Given the description of an element on the screen output the (x, y) to click on. 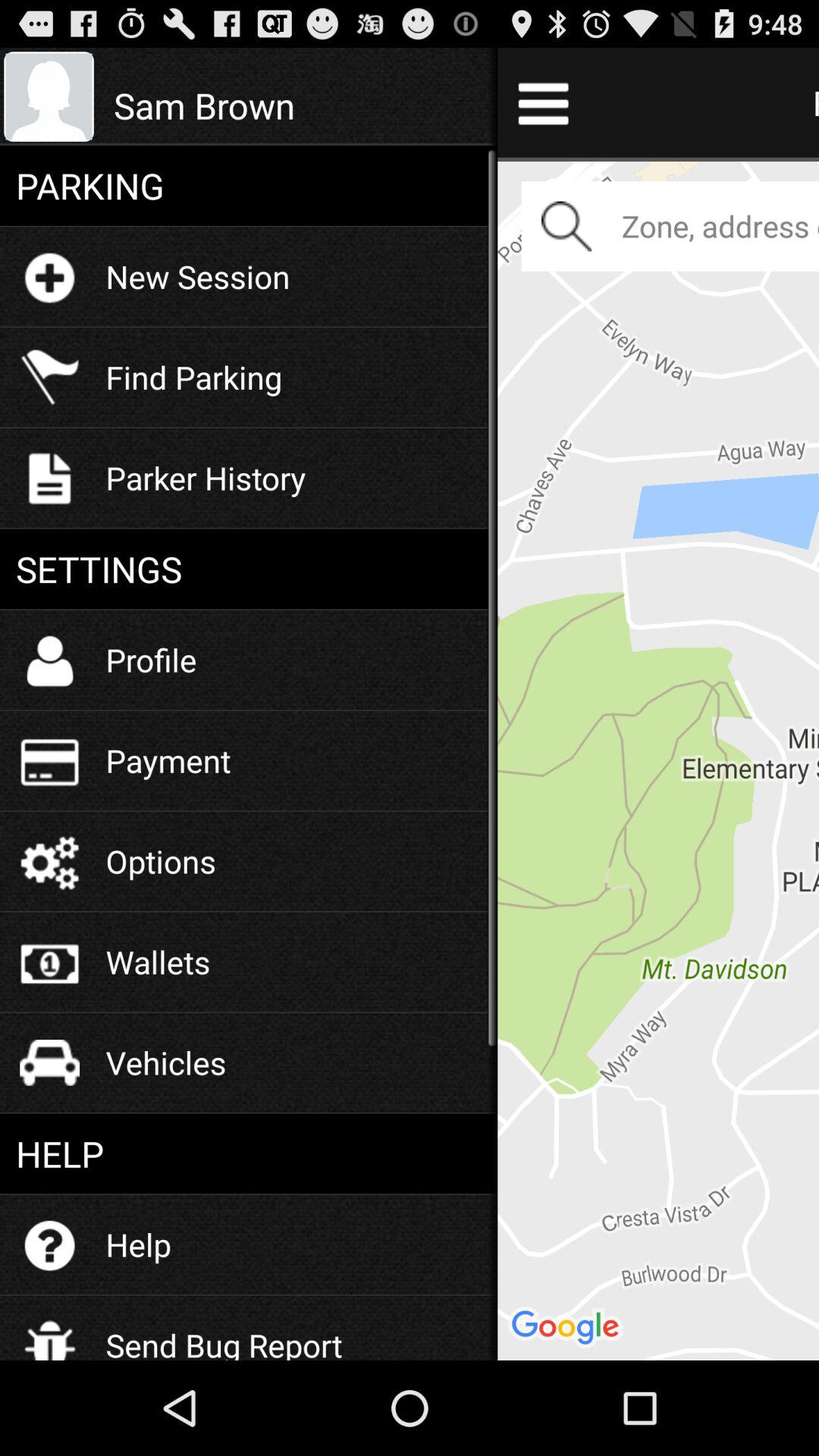
turn on the icon above find parking item (197, 275)
